Given the description of an element on the screen output the (x, y) to click on. 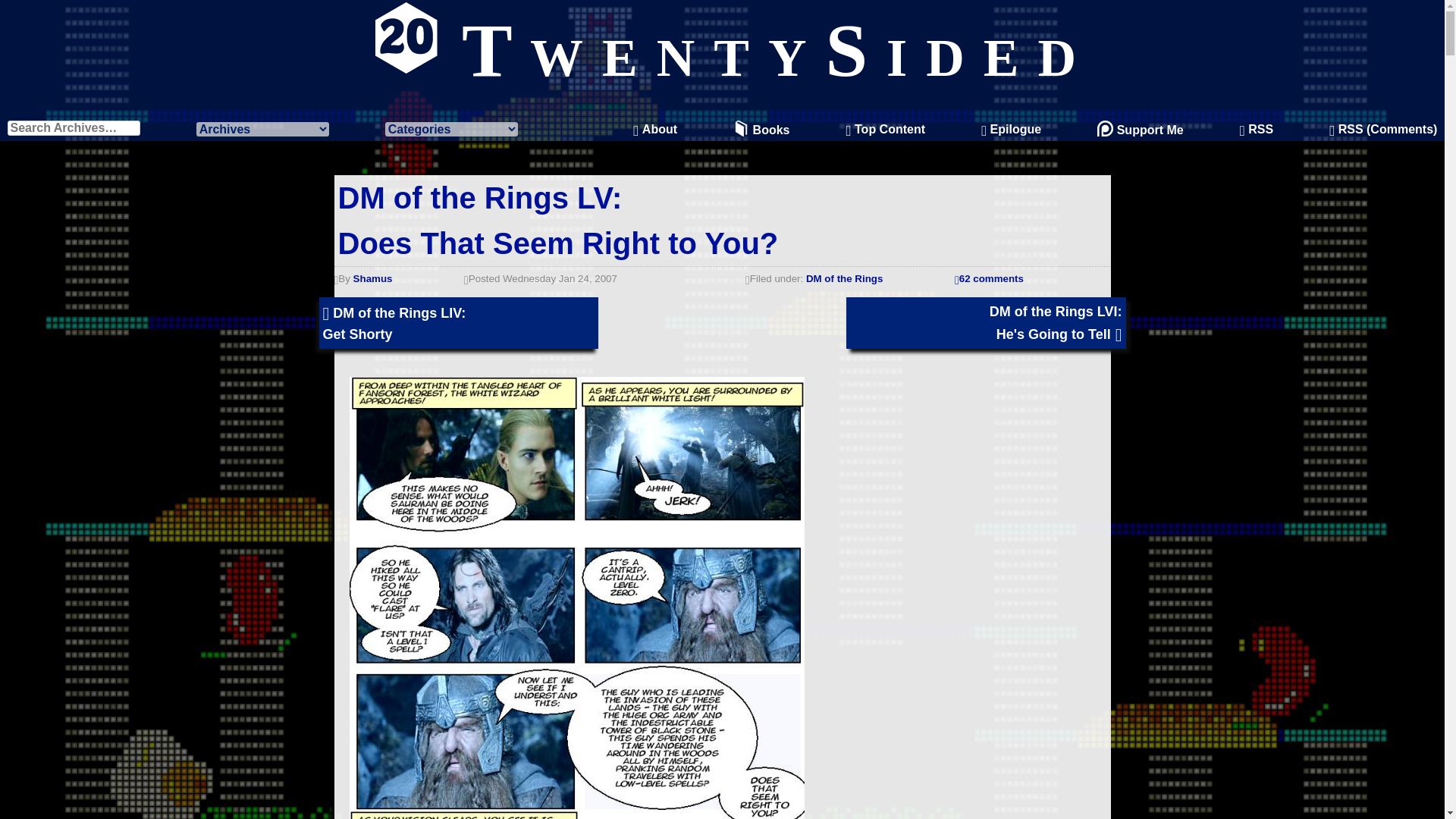
T w e n t y S i d e d (721, 50)
Books (761, 128)
Search for: (73, 127)
About the Author (655, 128)
Books (761, 128)
Shamus (373, 278)
Epilogue (557, 220)
RSS 2.0 Comments Feed (1011, 128)
RSS 2.0 Feed (1383, 128)
DM of the Rings (1256, 128)
Support Me (844, 278)
